Given the description of an element on the screen output the (x, y) to click on. 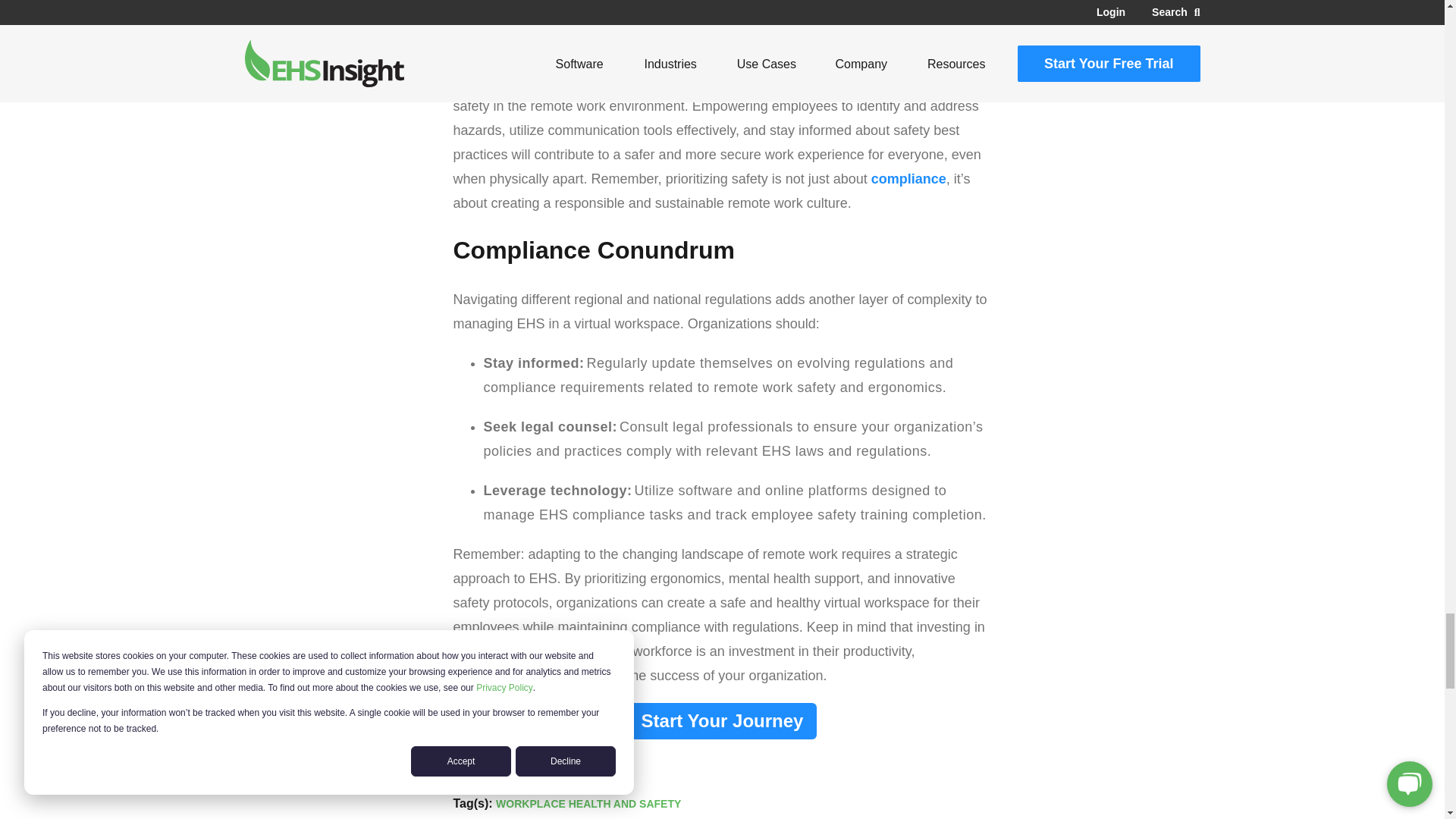
Start Your Journey (721, 720)
